Given the description of an element on the screen output the (x, y) to click on. 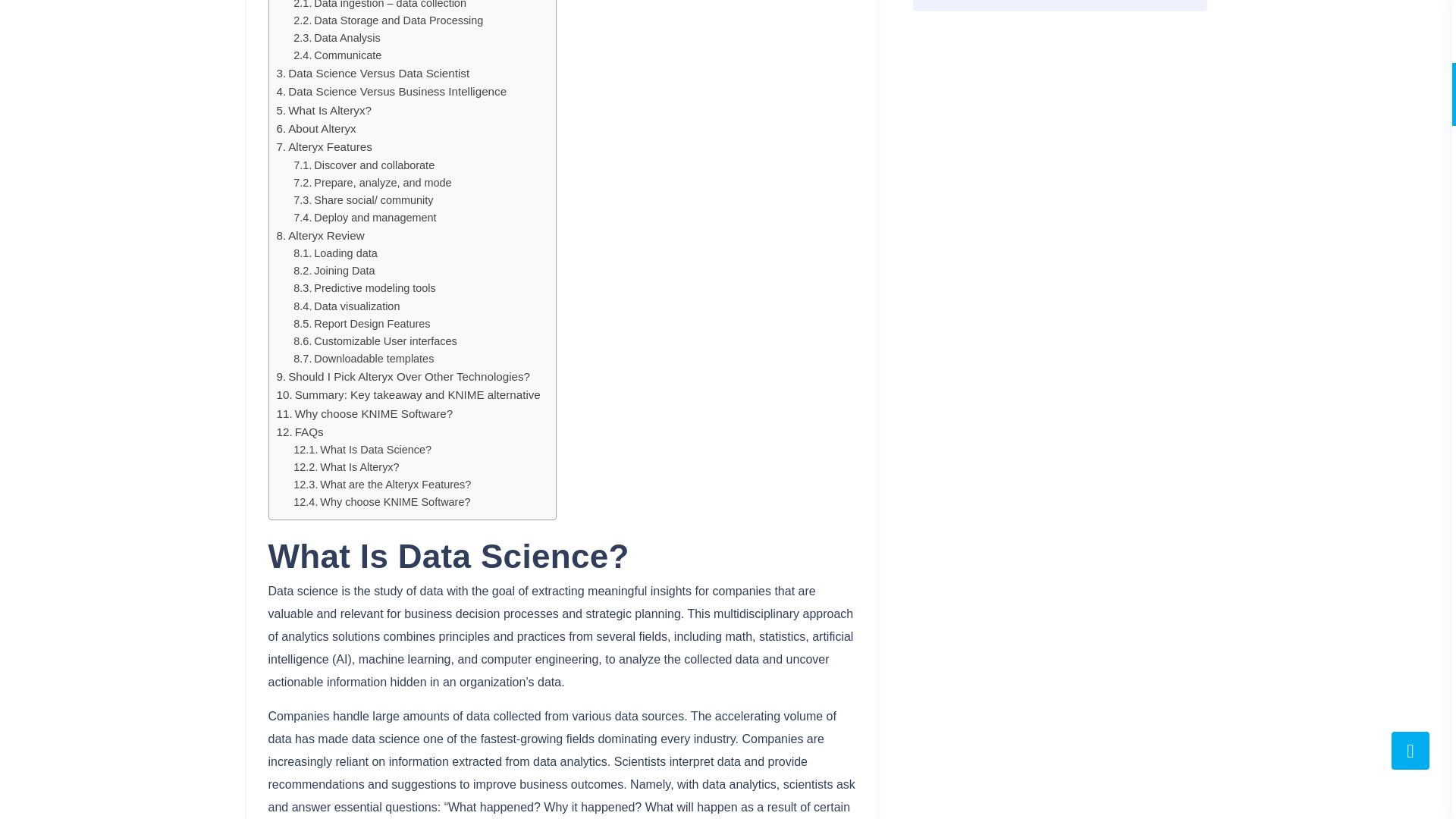
Data Storage and Data Processing (388, 20)
About Alteryx (315, 128)
Prepare, analyze, and mode (372, 182)
What Is Alteryx? (323, 110)
Alteryx Features (323, 146)
Communicate (337, 55)
Data Analysis (337, 37)
Data Science Versus Data Scientist (372, 72)
Discover and collaborate (363, 164)
Data Science Versus Business Intelligence (391, 91)
